Given the description of an element on the screen output the (x, y) to click on. 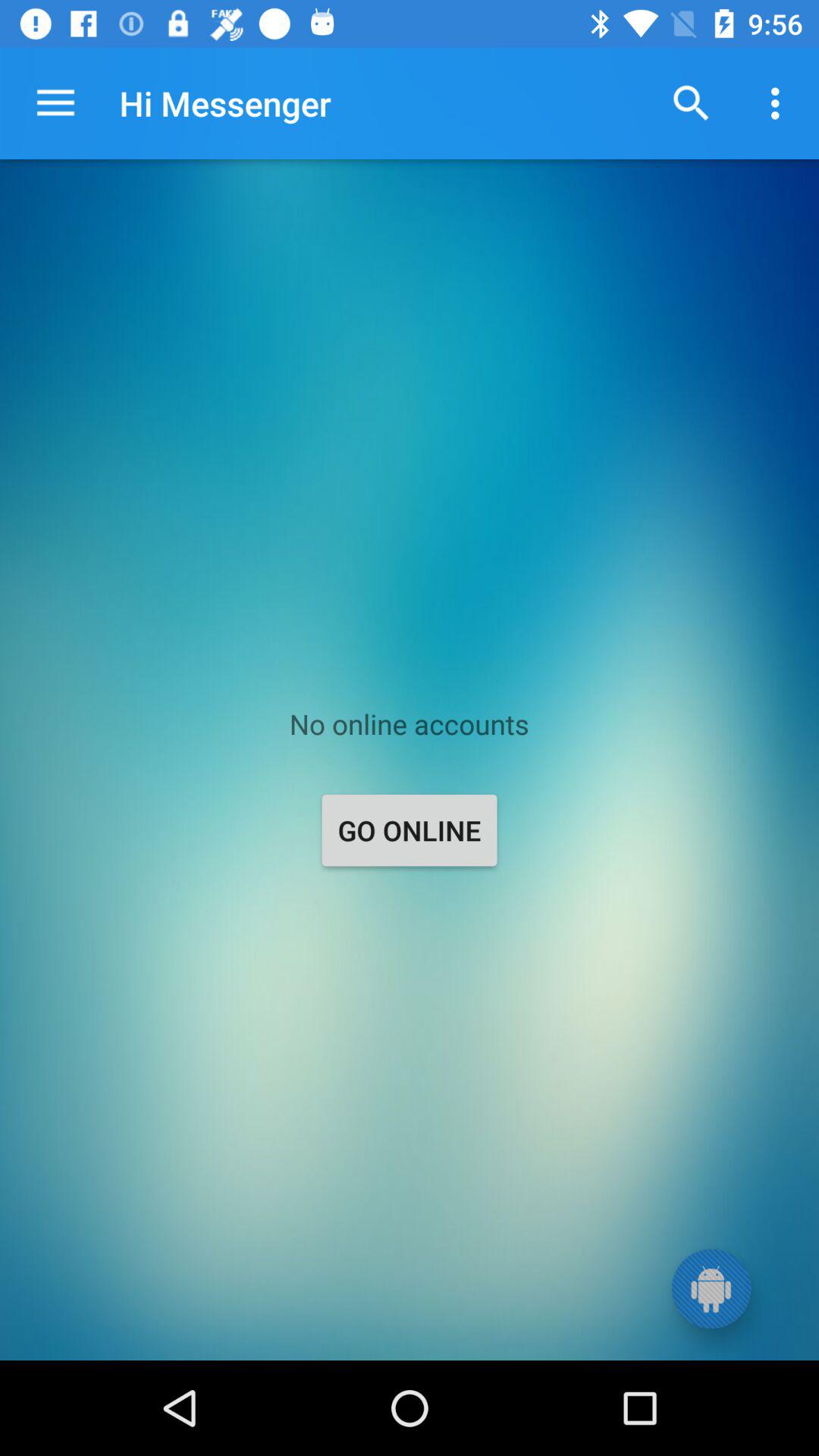
launch the go online item (409, 830)
